Given the description of an element on the screen output the (x, y) to click on. 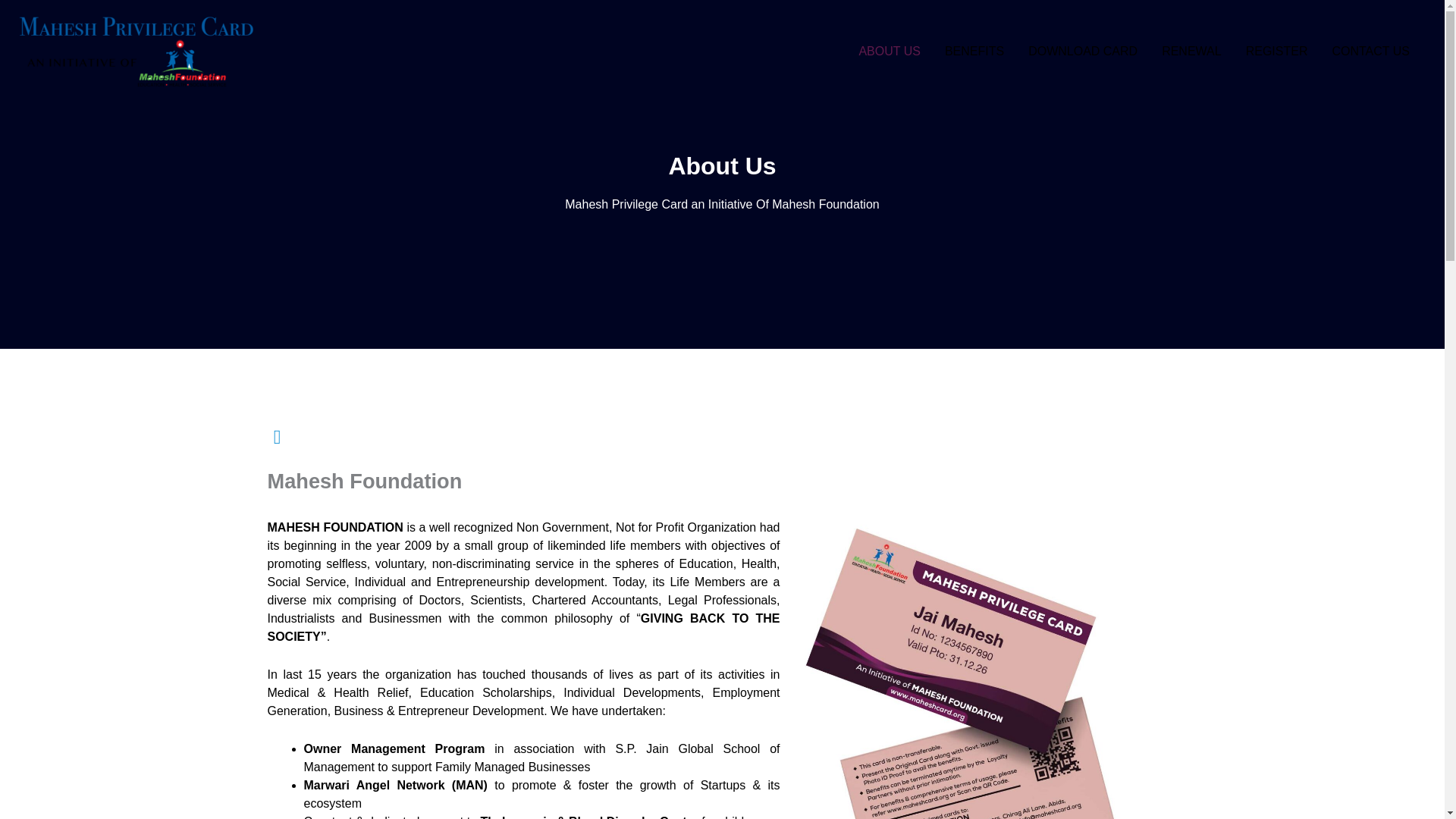
RENEWAL (1191, 50)
REGISTER (1276, 50)
CONTACT US (1370, 50)
BENEFITS (974, 50)
ABOUT US (889, 50)
DOWNLOAD CARD (1083, 50)
